Given the description of an element on the screen output the (x, y) to click on. 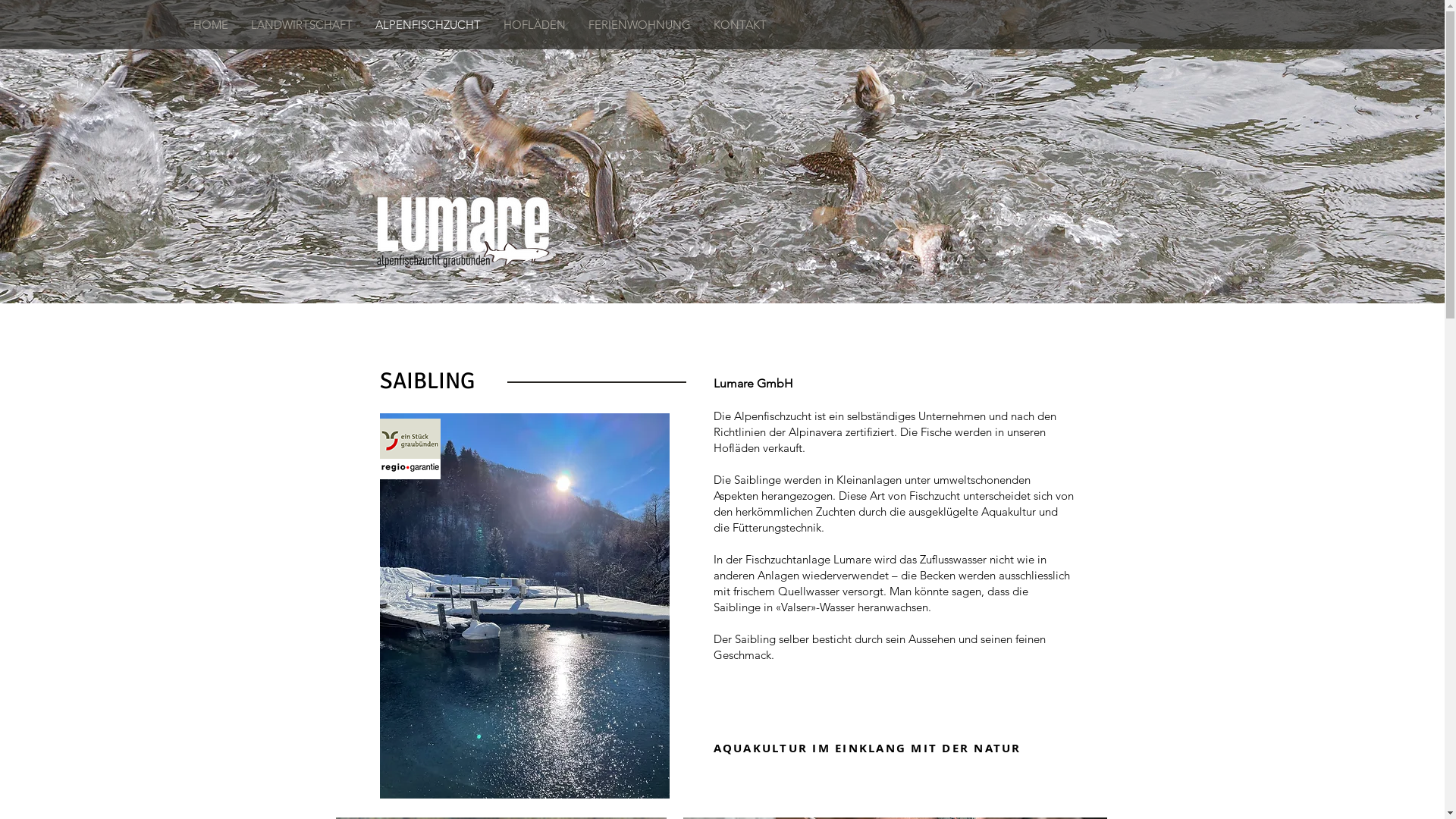
ALPENFISCHZUCHT Element type: text (428, 24)
LANDWIRTSCHAFT Element type: text (301, 24)
KONTAKT Element type: text (740, 24)
HOME Element type: text (210, 24)
Flamegl winter.jpg Element type: hover (523, 605)
FERIENWOHNUNG Element type: text (639, 24)
